Given the description of an element on the screen output the (x, y) to click on. 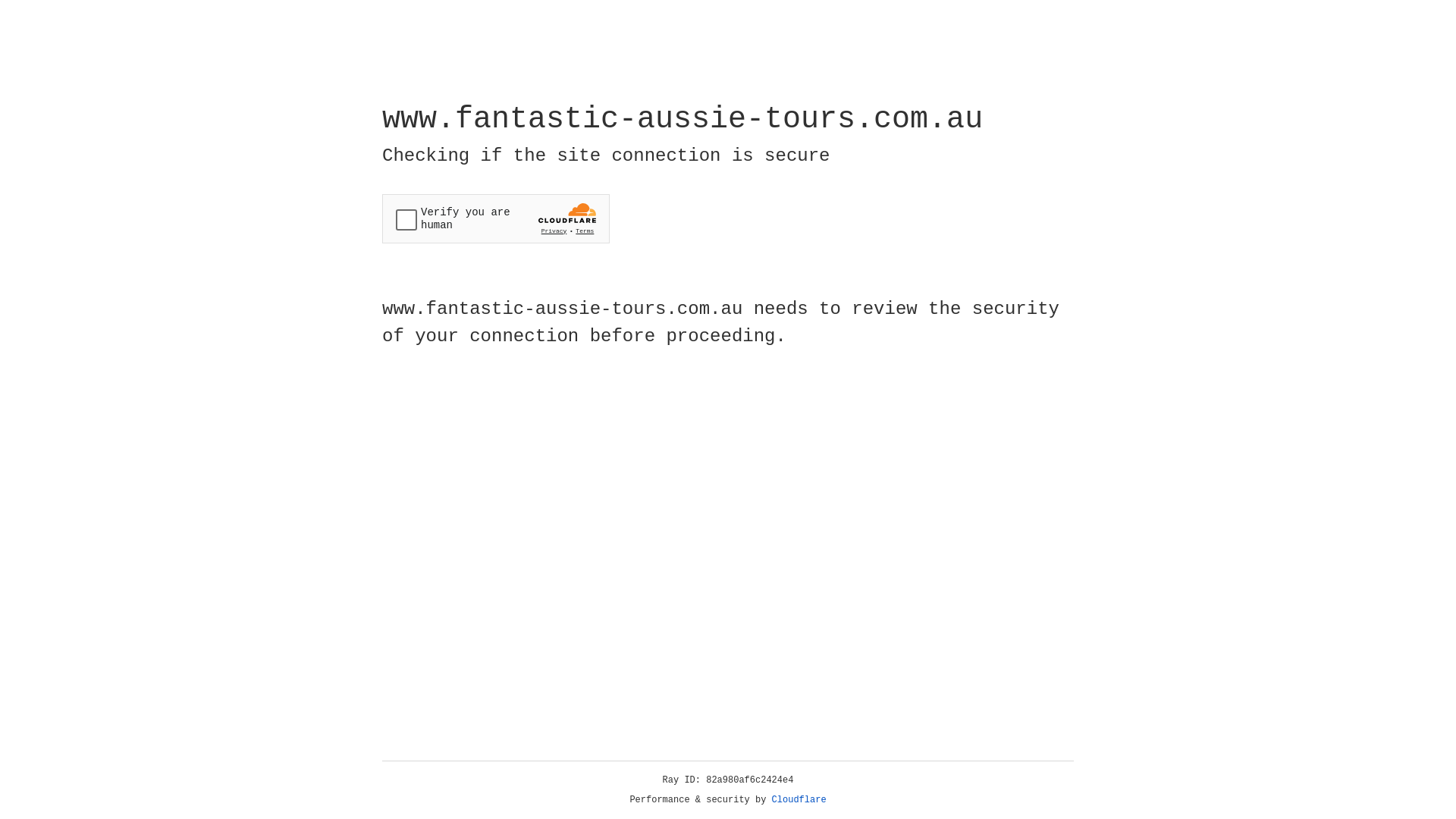
Widget containing a Cloudflare security challenge Element type: hover (495, 218)
Cloudflare Element type: text (798, 799)
